Given the description of an element on the screen output the (x, y) to click on. 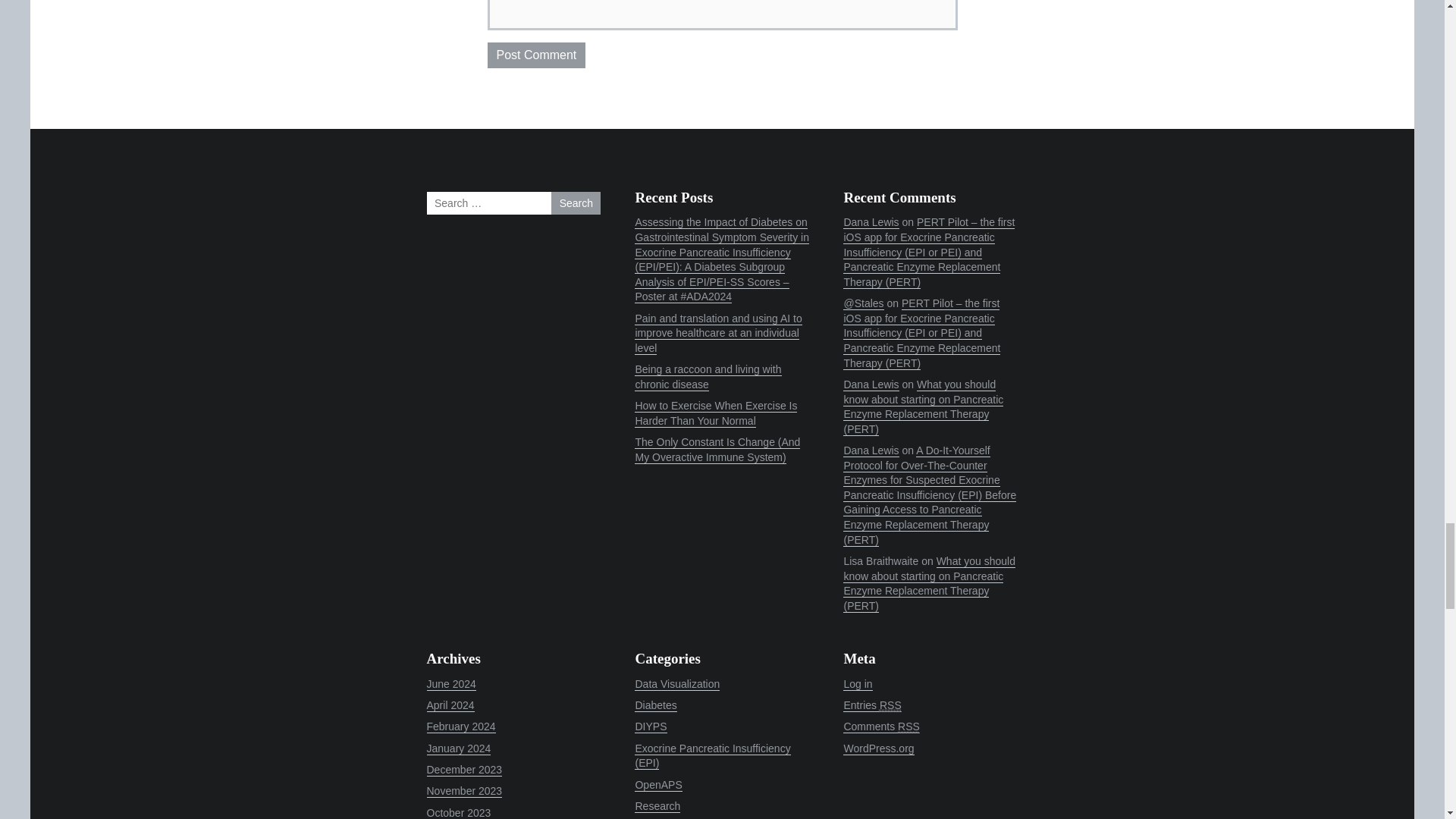
Search (575, 202)
Search (575, 202)
Post Comment (535, 54)
Search for: (512, 202)
Really Simple Syndication (890, 705)
Really Simple Syndication (909, 726)
